Given the description of an element on the screen output the (x, y) to click on. 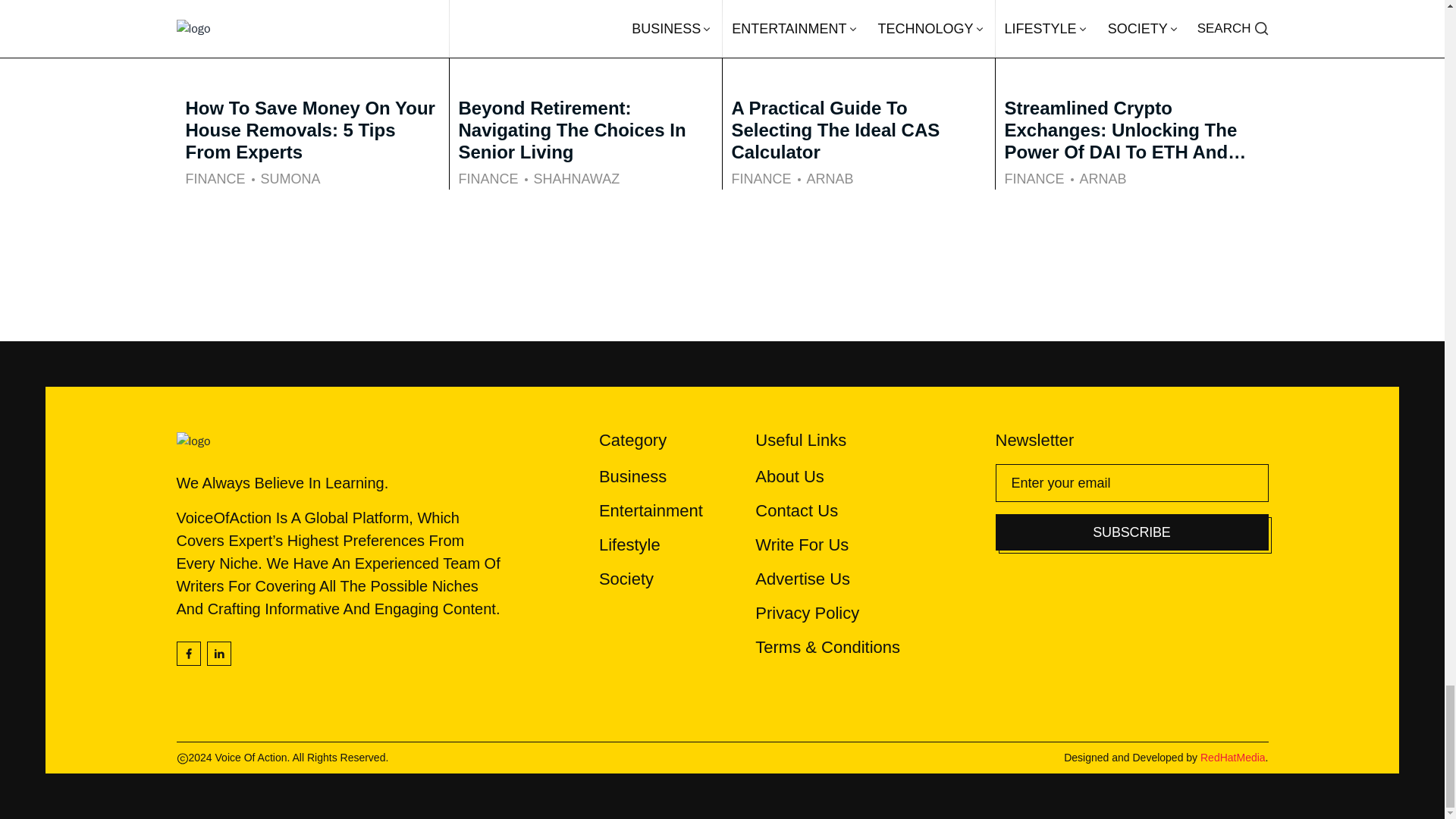
Finance (760, 178)
Finance (1034, 178)
Finance (488, 178)
Finance (214, 178)
Subscribe (1131, 532)
